Given the description of an element on the screen output the (x, y) to click on. 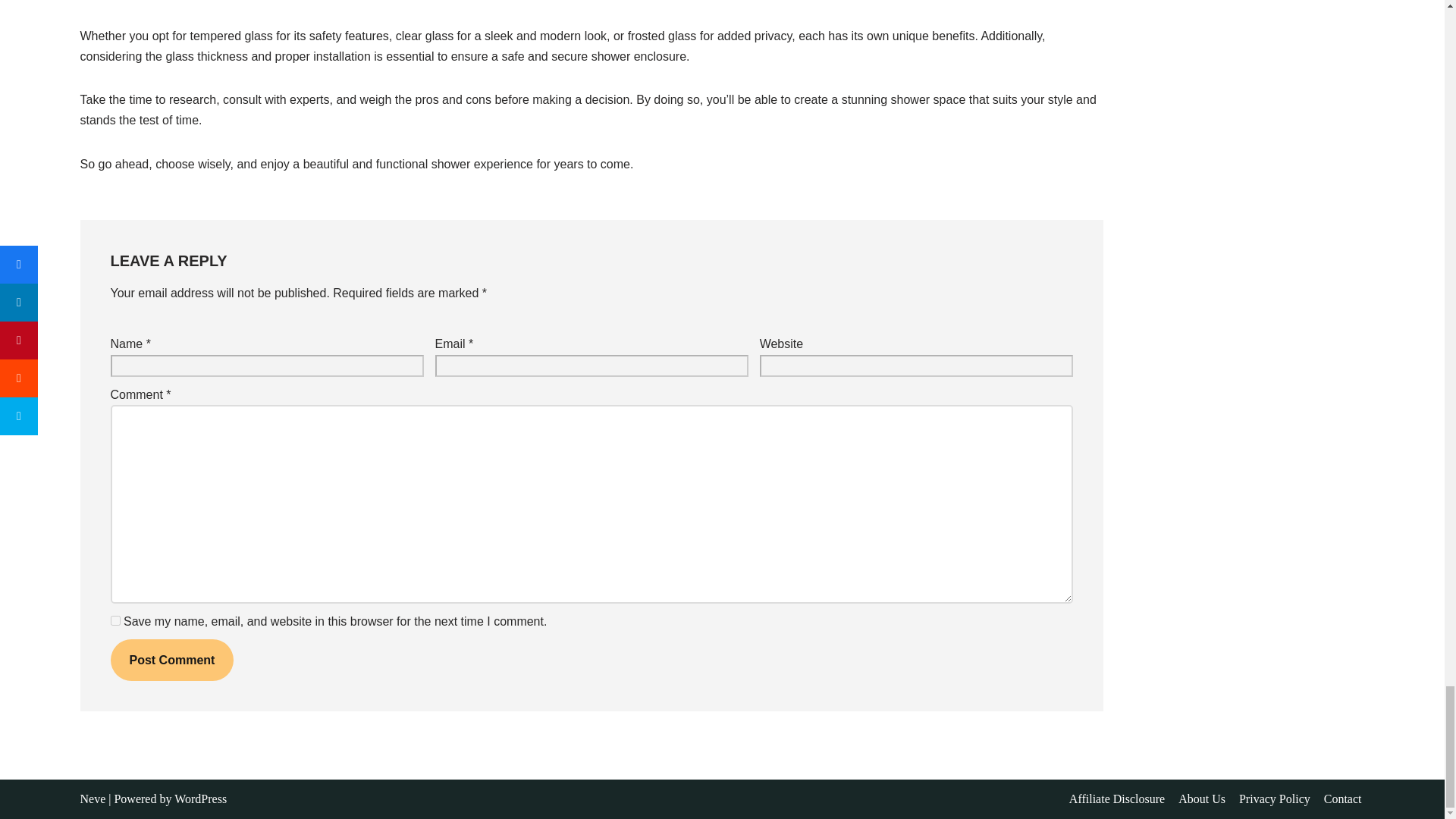
Post Comment (172, 660)
yes (115, 620)
Post Comment (172, 660)
